Given the description of an element on the screen output the (x, y) to click on. 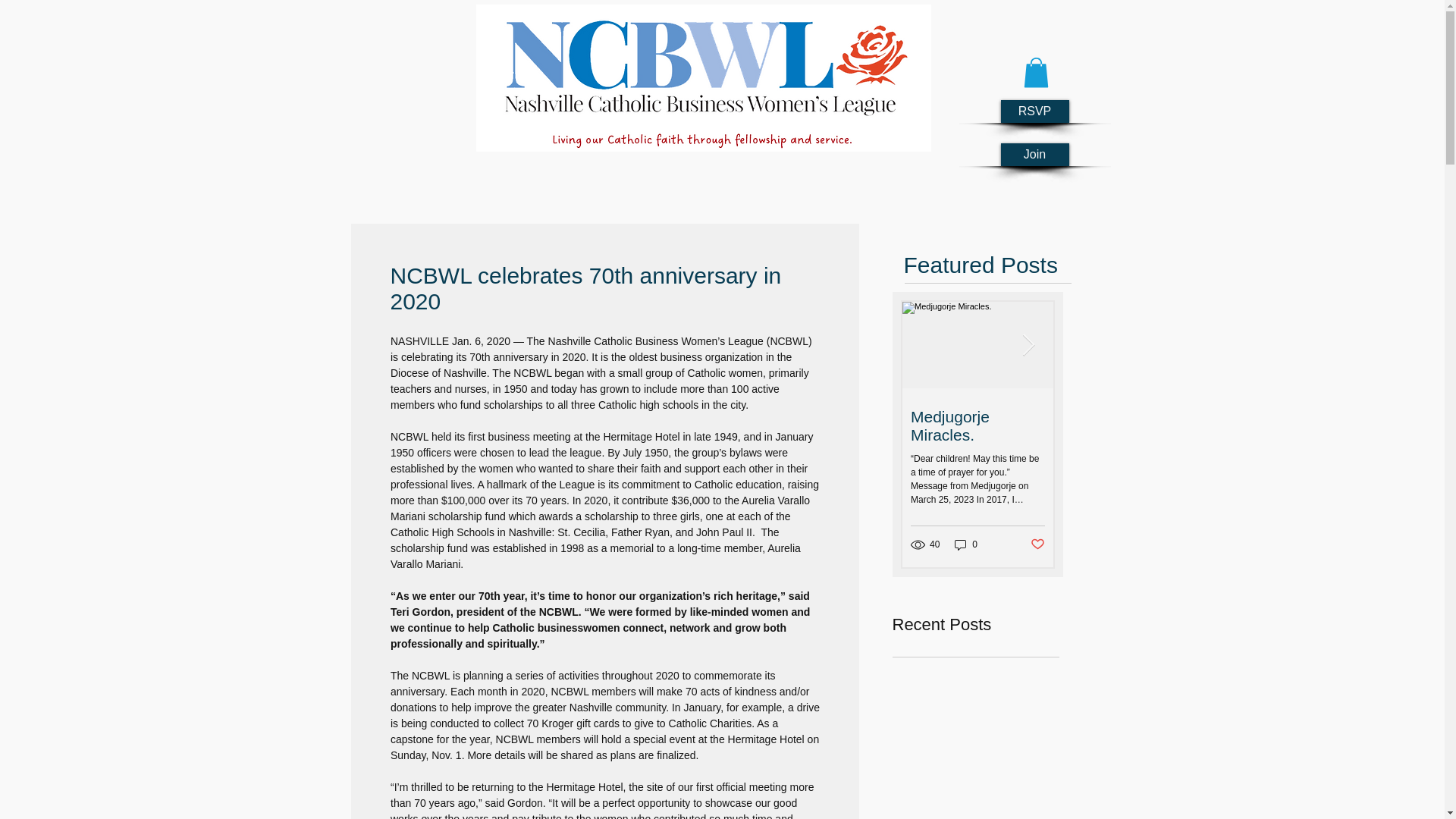
RSVP (1034, 110)
Medjugorje Miracles. (976, 425)
0 (965, 544)
Join (1034, 154)
